Given the description of an element on the screen output the (x, y) to click on. 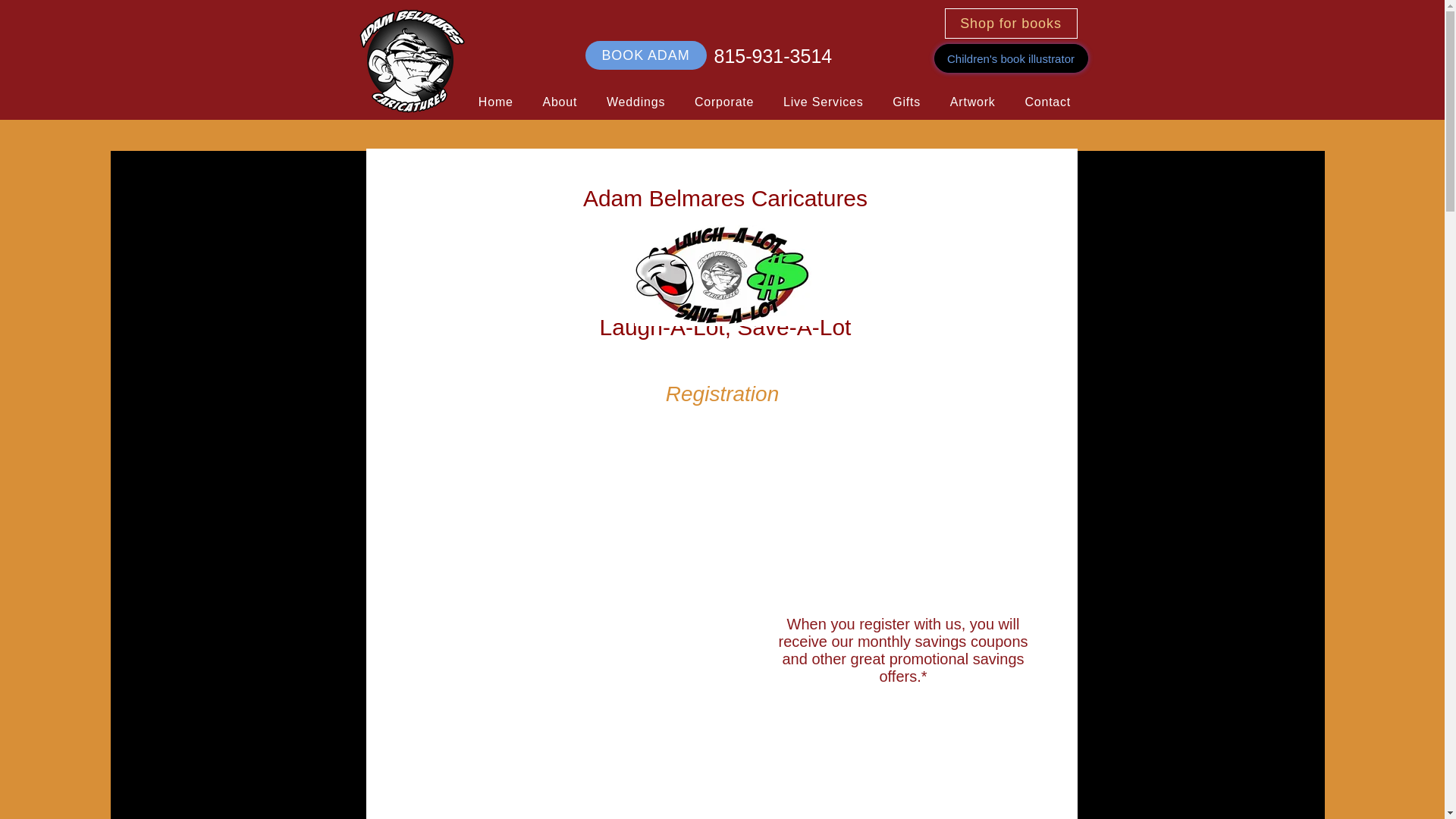
BOOK ADAM (645, 54)
Children's book illustrator (1010, 58)
Corporate (723, 102)
Shop for books (1010, 23)
Gifts (906, 102)
Home (496, 102)
Live Services (823, 102)
815-931-3514 (773, 55)
Weddings (636, 102)
